Given the description of an element on the screen output the (x, y) to click on. 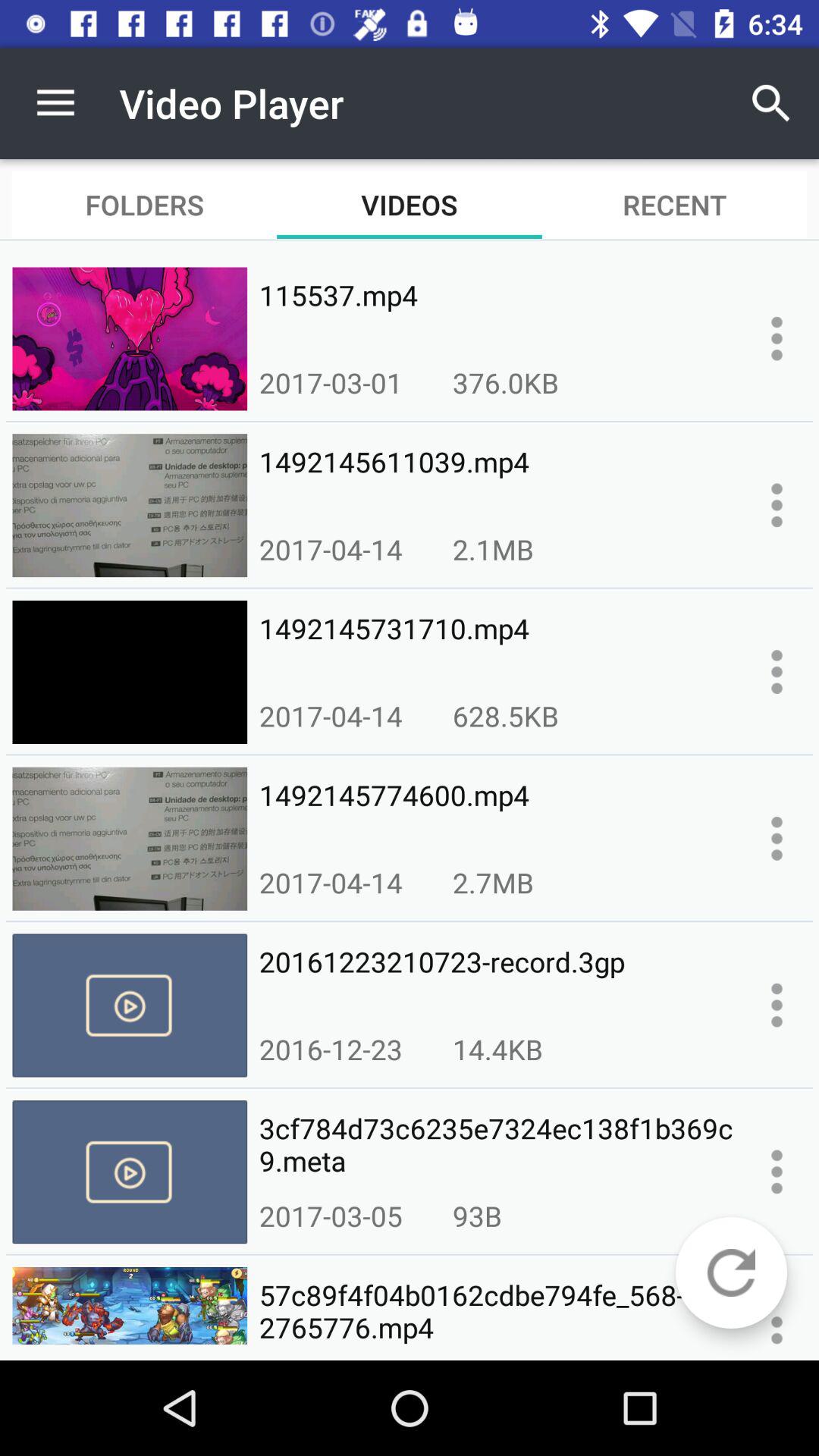
turn off icon below the 20161223210723-record.3gp icon (330, 1049)
